Given the description of an element on the screen output the (x, y) to click on. 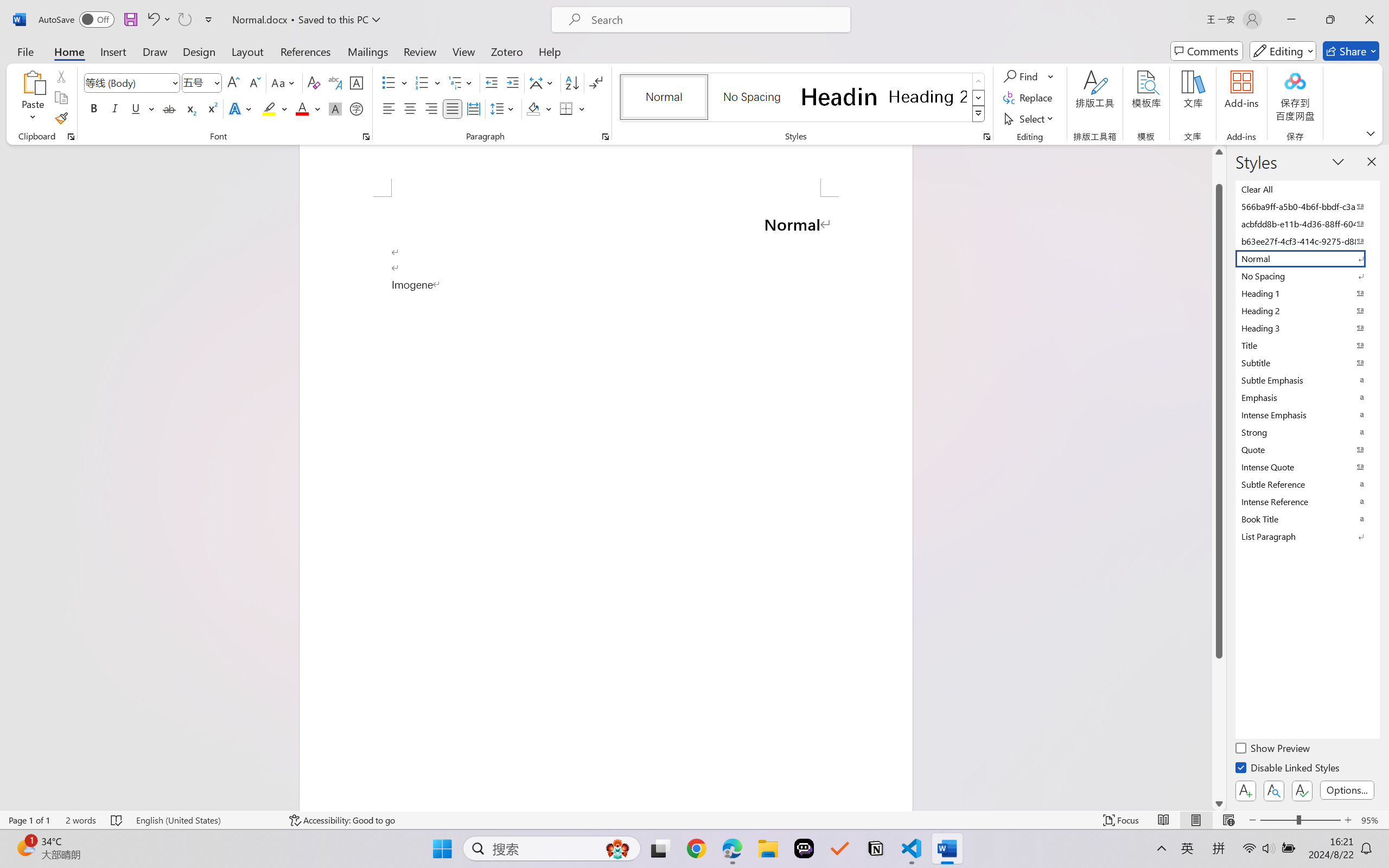
Normal (1306, 258)
